Given the description of an element on the screen output the (x, y) to click on. 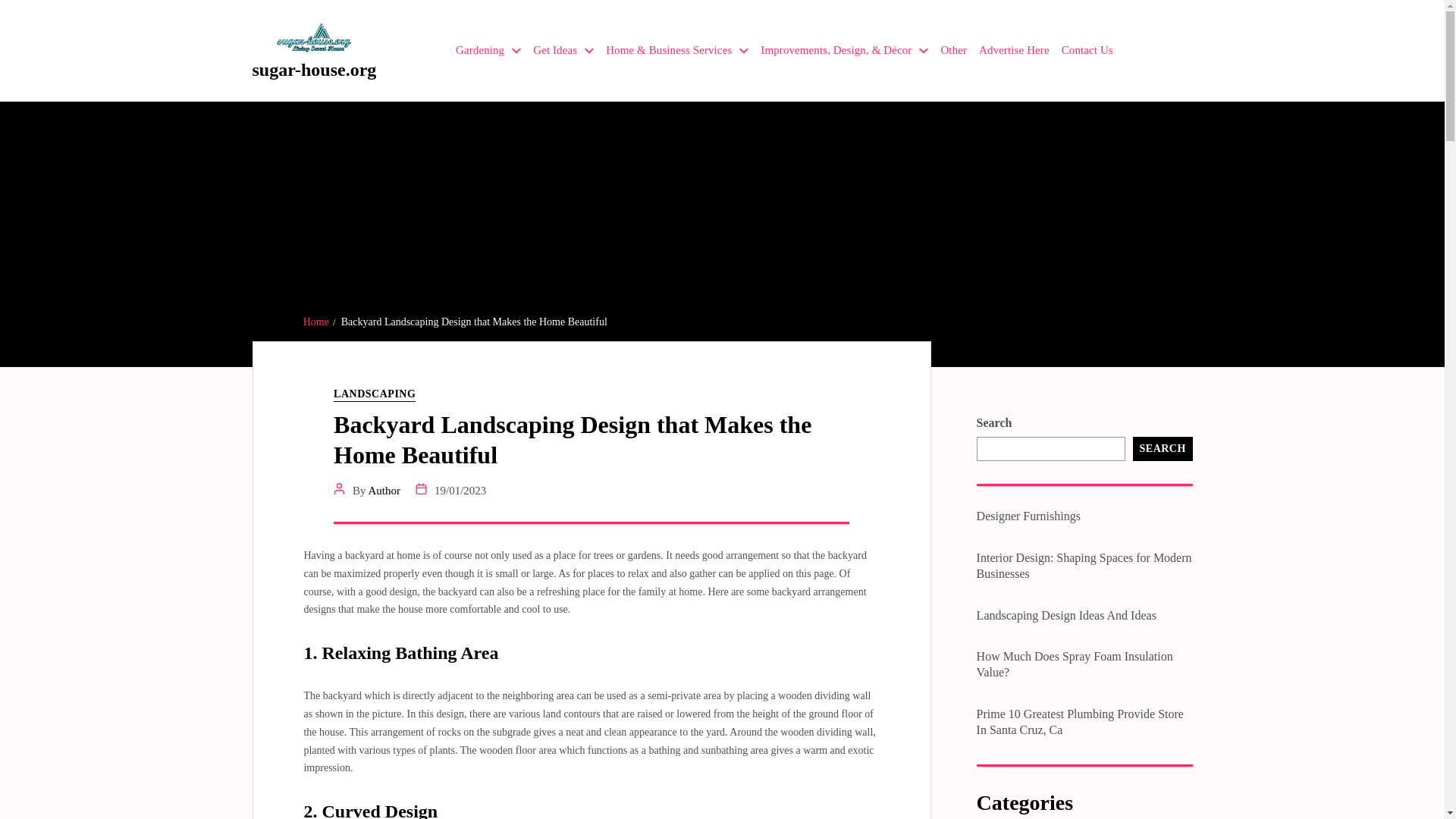
Get Ideas (563, 50)
sugar-house.org (313, 69)
Gardening (488, 50)
